Given the description of an element on the screen output the (x, y) to click on. 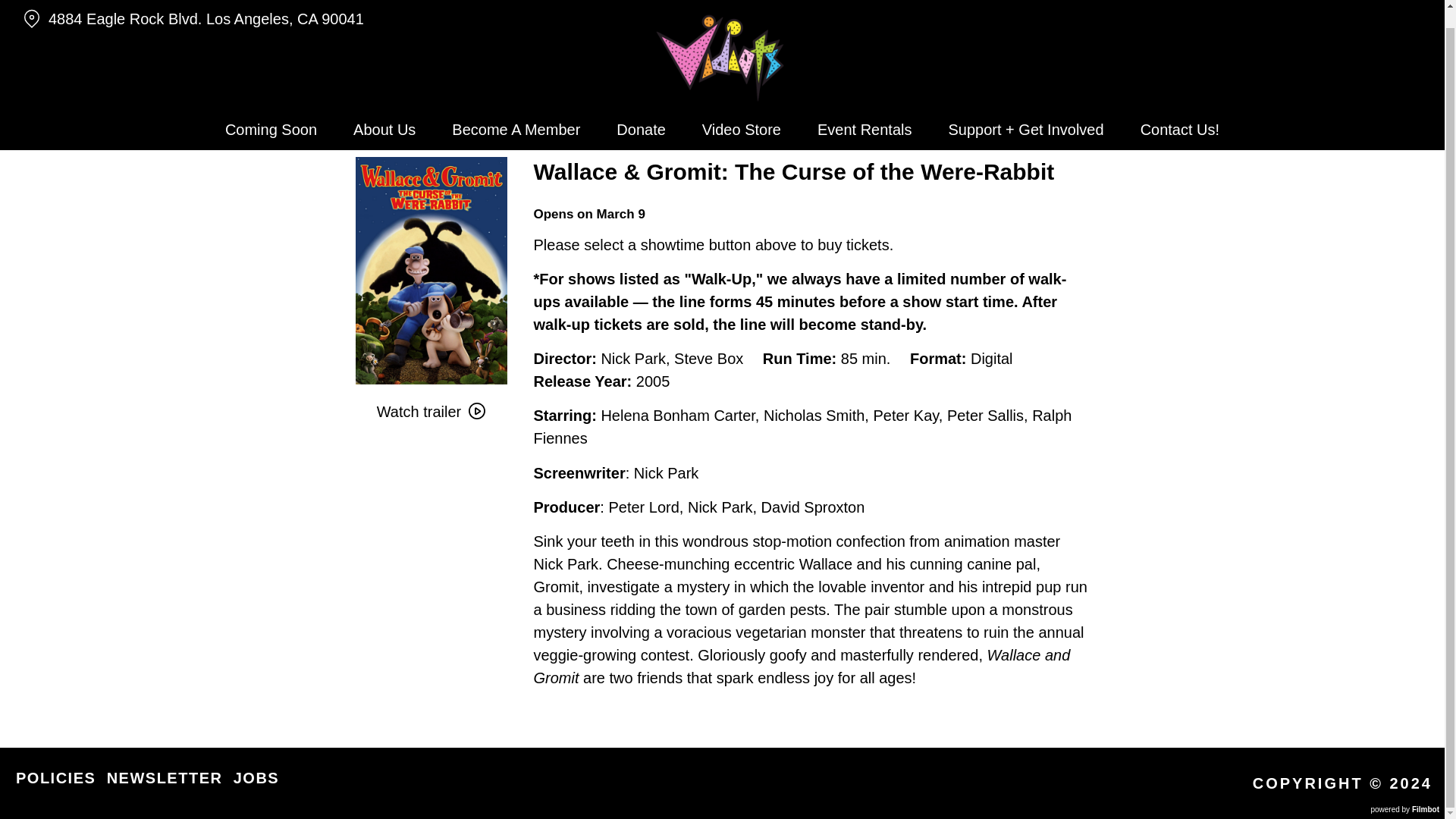
Coming Soon (270, 111)
facebook (1420, 2)
POLICIES (56, 778)
instagram (1363, 2)
Video Store (741, 111)
About Us (384, 111)
Watch trailer (430, 411)
Event Rentals (864, 111)
Contact Us! (1179, 111)
twitter (1391, 2)
